Given the description of an element on the screen output the (x, y) to click on. 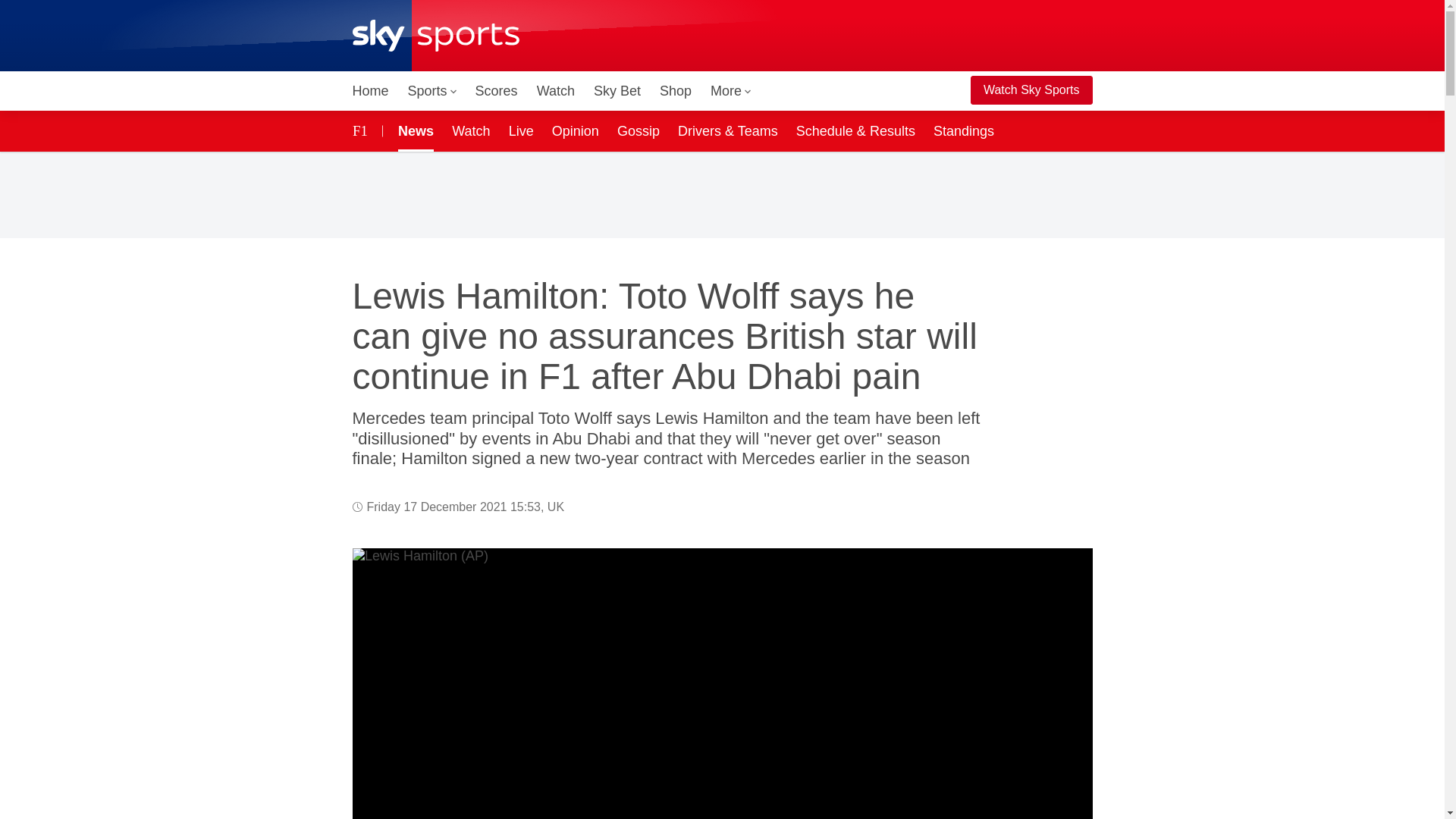
Gossip (638, 130)
F1 (362, 130)
Sky Bet (616, 91)
News (412, 130)
Sports (432, 91)
Scores (496, 91)
Watch Sky Sports (1032, 90)
More (730, 91)
Watch (470, 130)
Live (521, 130)
